Given the description of an element on the screen output the (x, y) to click on. 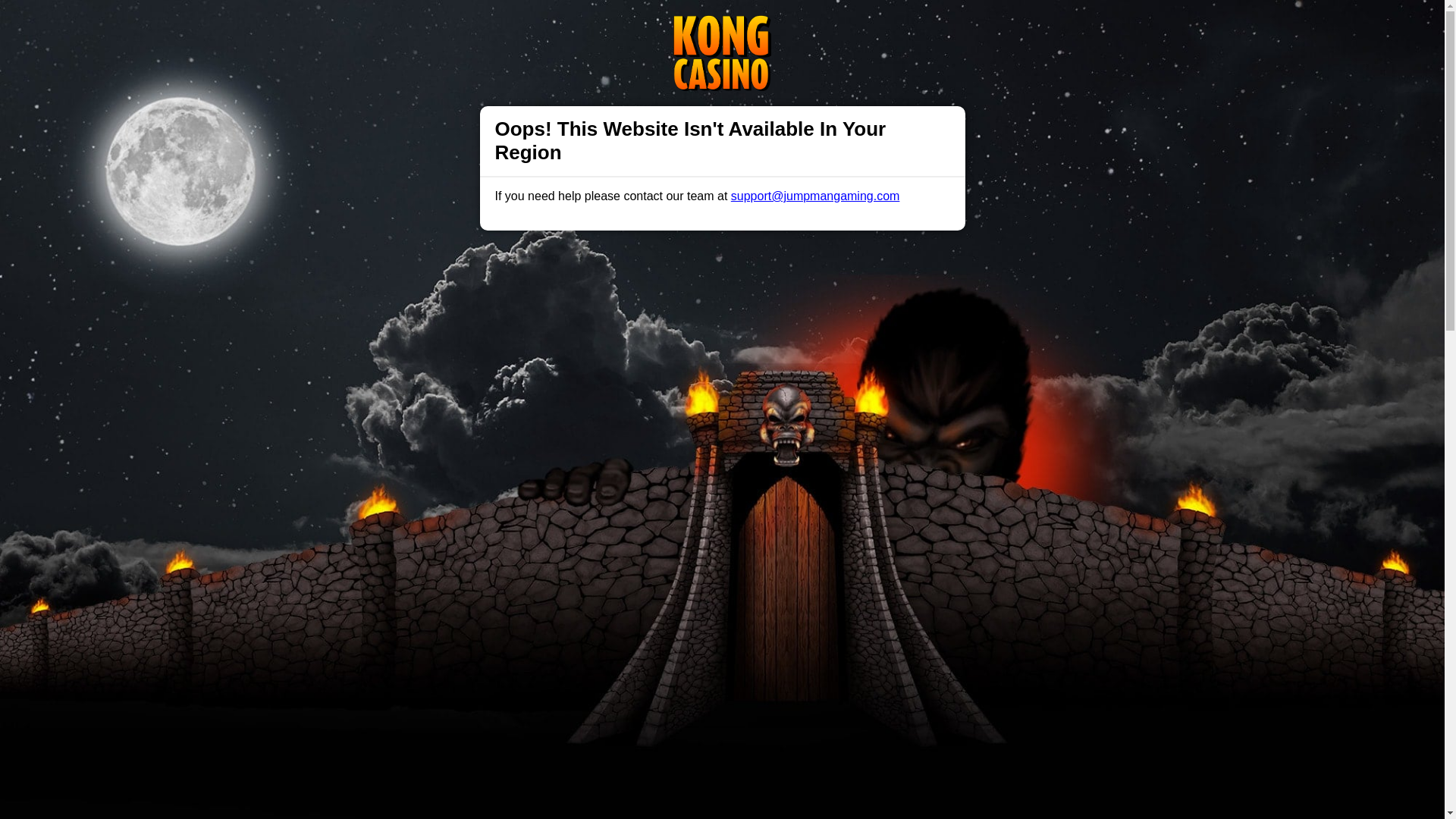
All Games (574, 26)
Login (963, 26)
Playtech Slots (751, 551)
Promotions (499, 26)
JOIN NOW (683, 405)
Join Now (1054, 26)
PLAY NOW (759, 405)
All Casino Games (669, 431)
View Promotions (775, 431)
Trophies (430, 26)
